Given the description of an element on the screen output the (x, y) to click on. 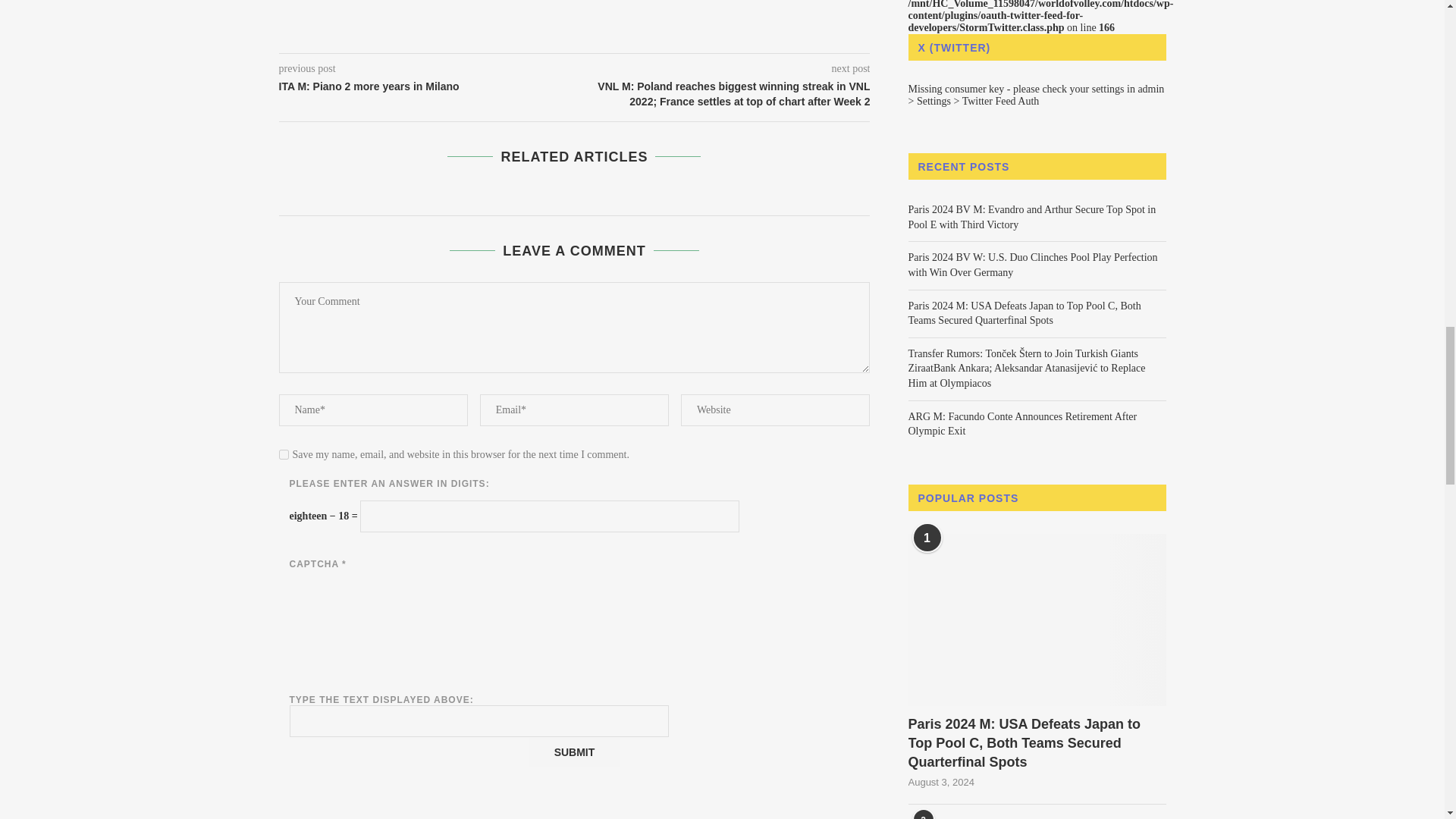
Submit (574, 752)
yes (283, 454)
